Given the description of an element on the screen output the (x, y) to click on. 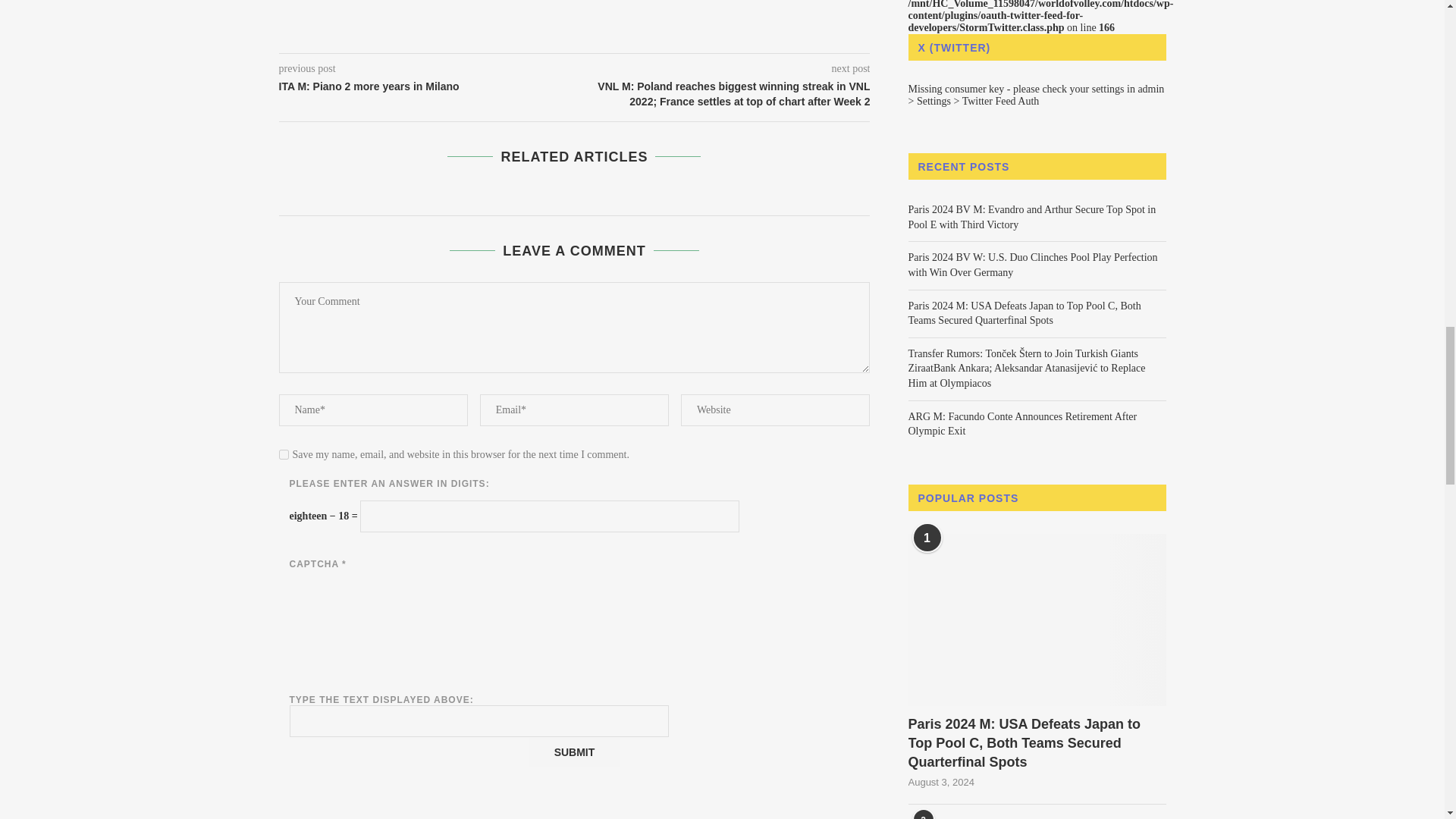
Submit (574, 752)
yes (283, 454)
